Given the description of an element on the screen output the (x, y) to click on. 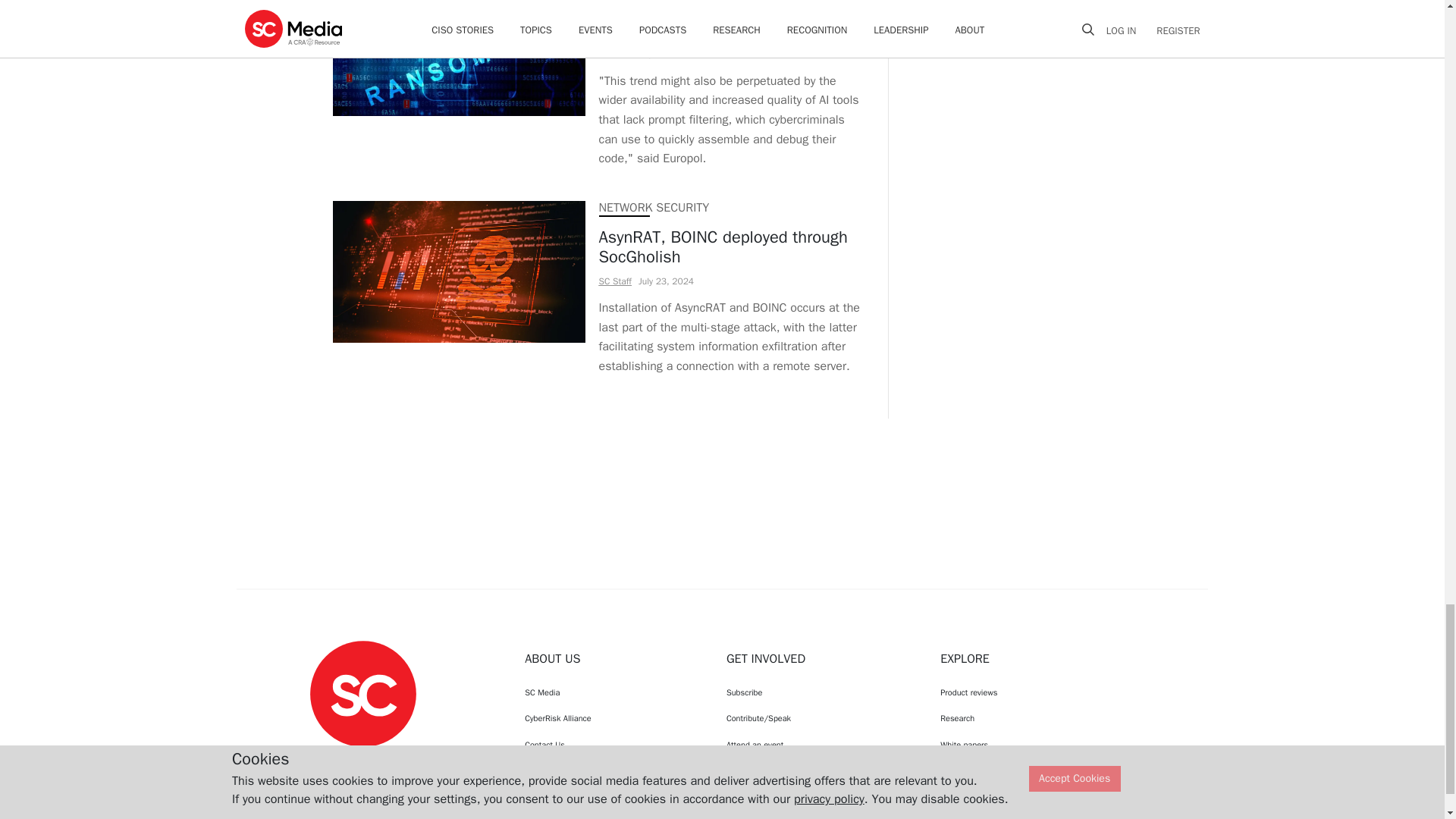
NETWORK SECURITY (654, 207)
SCMagazine on Facebook (324, 760)
Ransomware crackdown increases cyber threat fragmentation (729, 20)
SCMagazine on LinkedIn (401, 760)
SC Media (362, 693)
AsynRAT, BOINC deployed through SocGholish (729, 247)
SC Staff (614, 53)
SC Staff (614, 281)
SCMagazine on Twitter (362, 760)
